Given the description of an element on the screen output the (x, y) to click on. 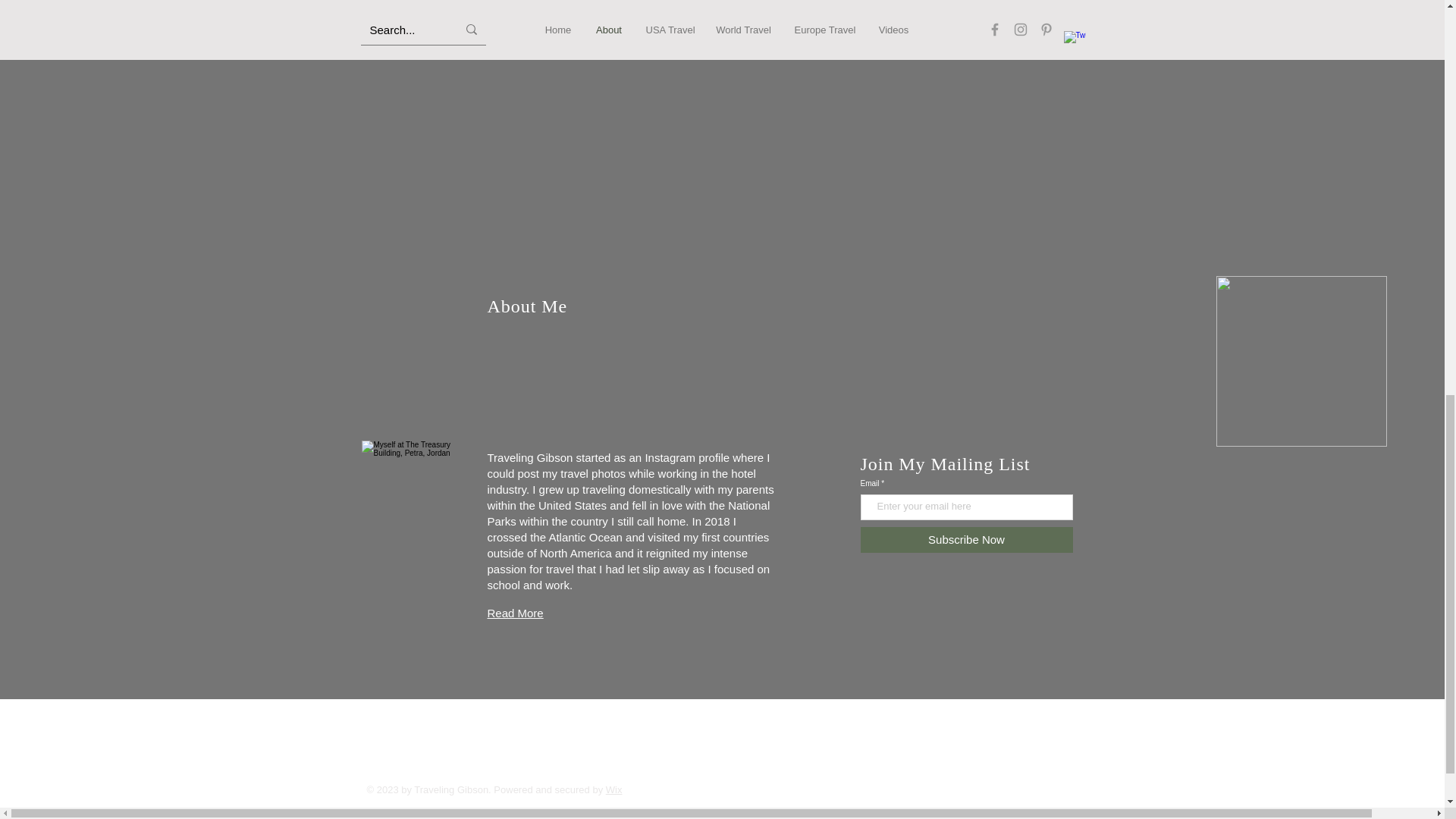
Read More (514, 612)
Wix (614, 789)
Android Playstore Logo.png (1301, 361)
Subscribe Now (965, 539)
